Given the description of an element on the screen output the (x, y) to click on. 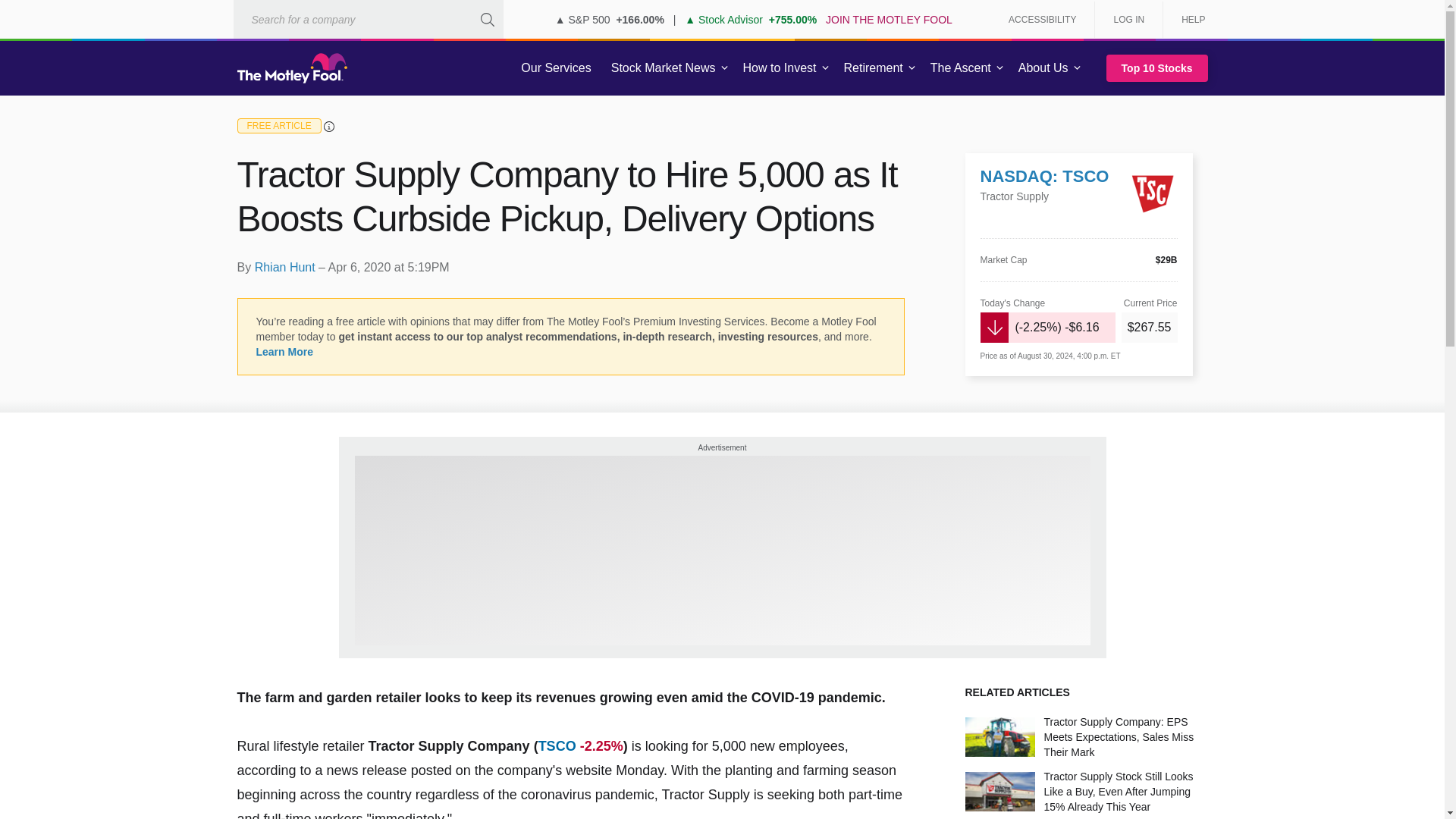
LOG IN (1128, 19)
How to Invest (779, 67)
ACCESSIBILITY (1042, 19)
HELP (1187, 19)
Stock Market News (662, 67)
Our Services (555, 67)
